Given the description of an element on the screen output the (x, y) to click on. 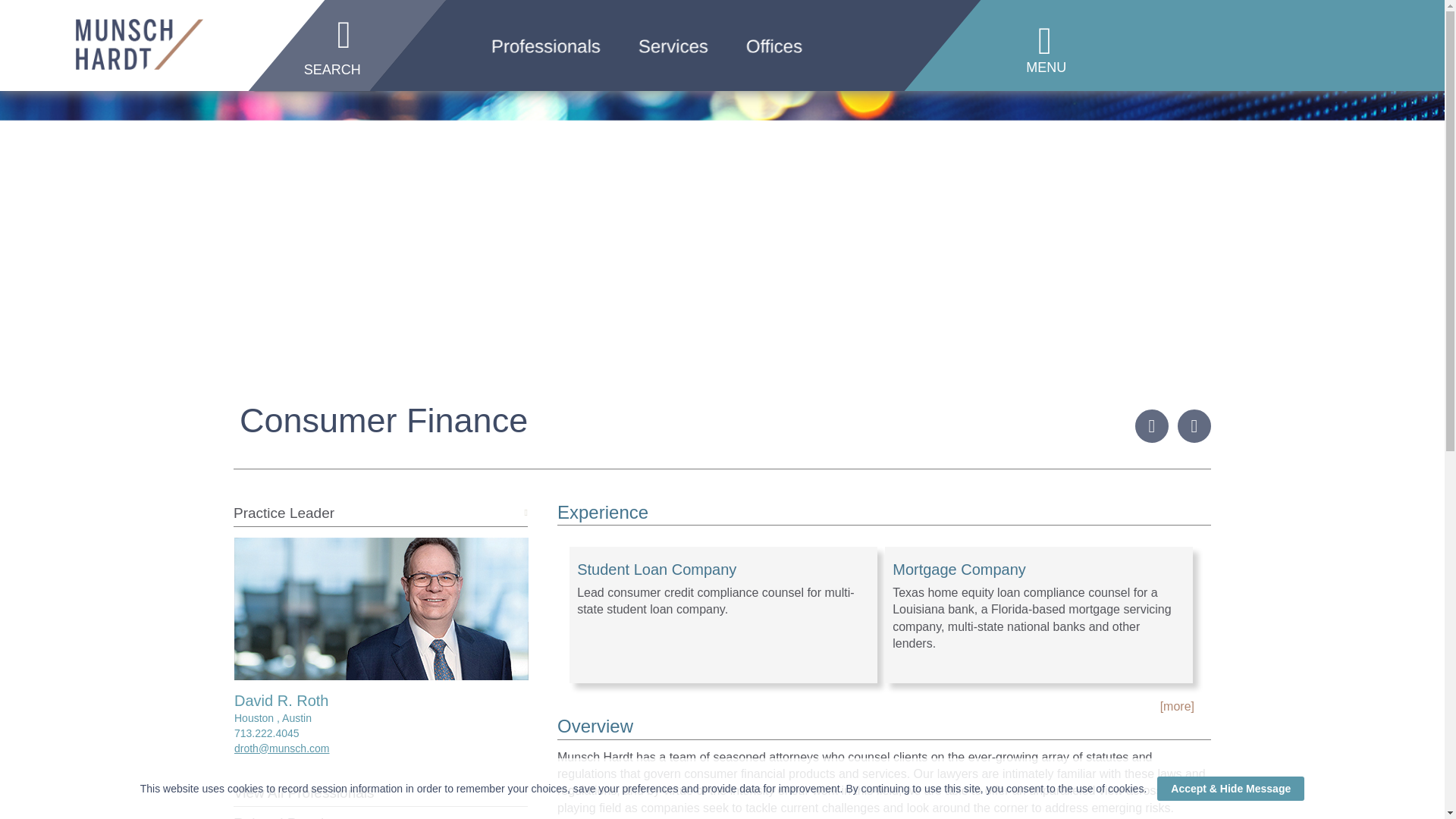
Professionals (504, 63)
website search (337, 56)
HTML Print (1152, 426)
Print to PDF (1194, 426)
Services (631, 63)
SEARCH (337, 56)
